Given the description of an element on the screen output the (x, y) to click on. 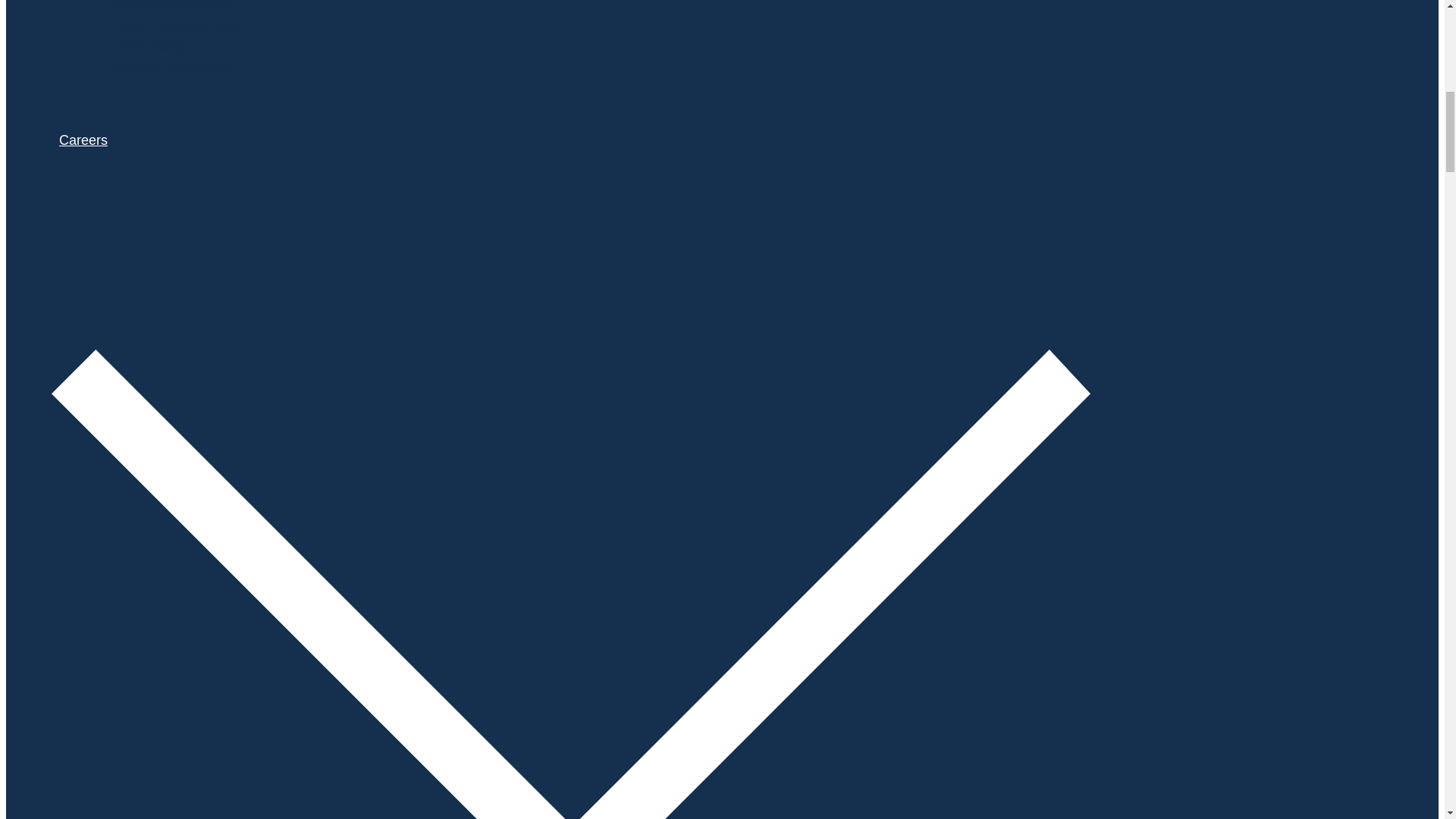
Project Management (175, 24)
Enterprise Networks (173, 5)
Consultancy (149, 46)
Careers (677, 168)
Artificial Intelligence (172, 67)
